Given the description of an element on the screen output the (x, y) to click on. 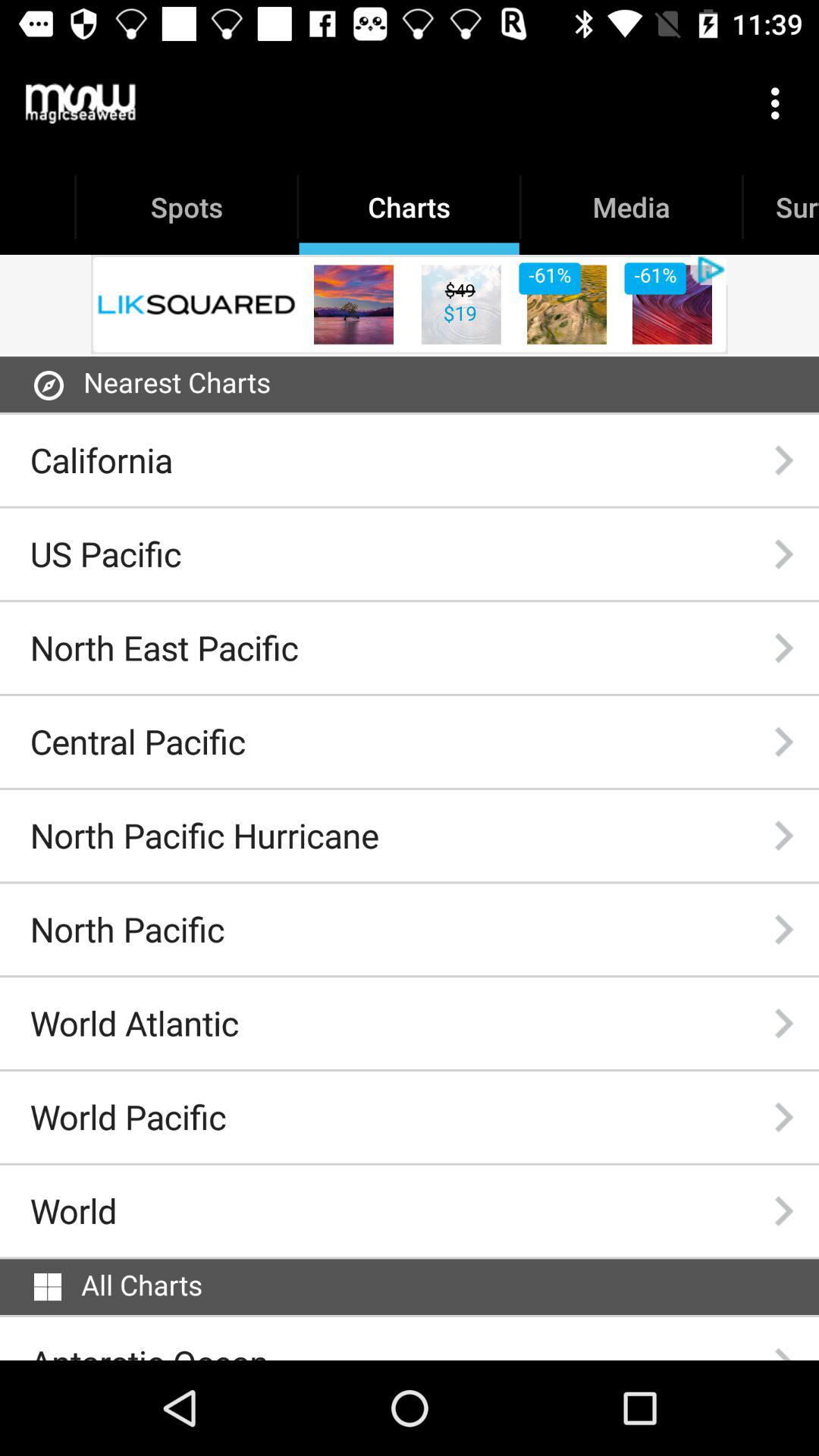
select icon above the antarctic ocean (47, 1286)
